Given the description of an element on the screen output the (x, y) to click on. 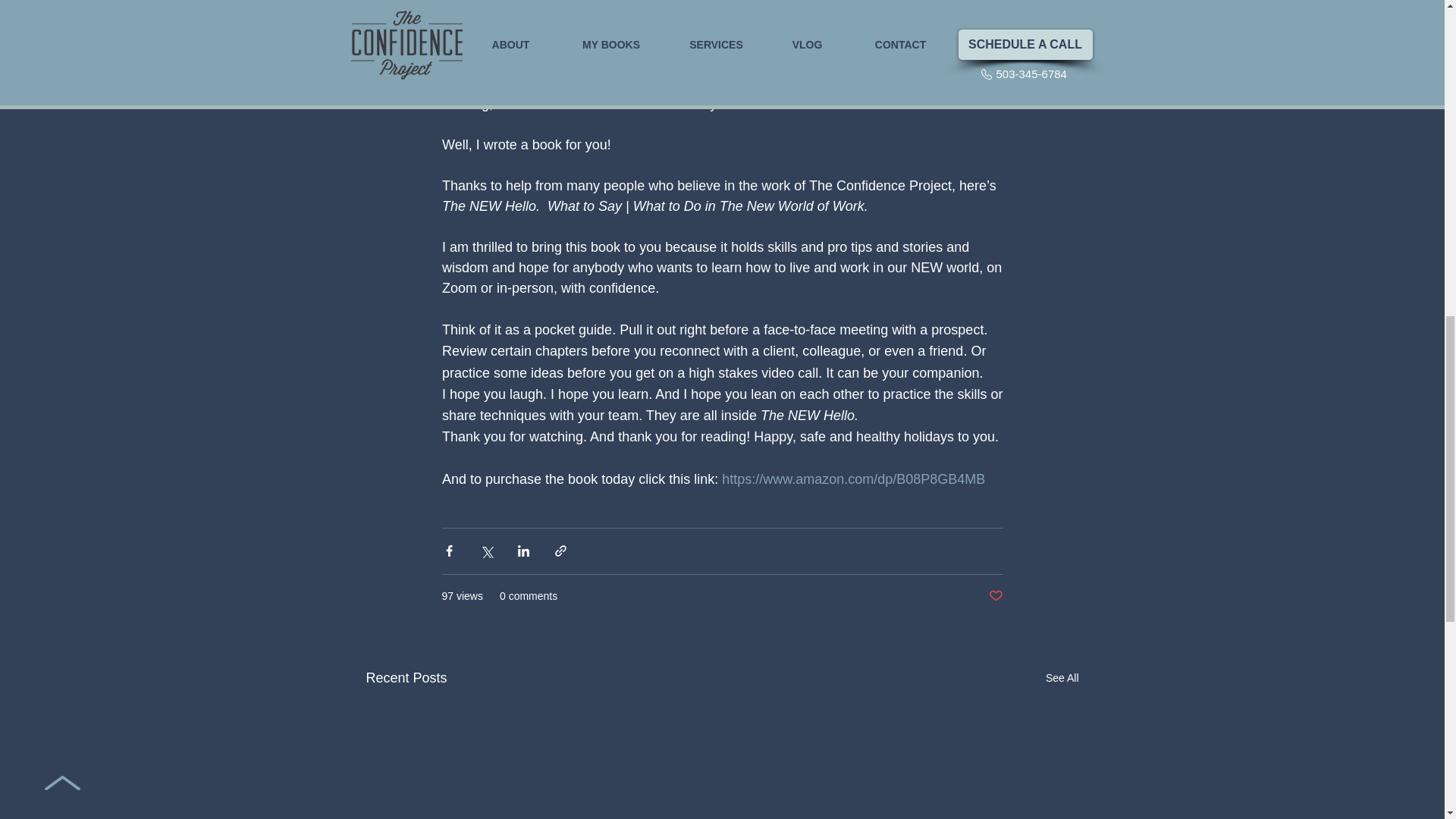
See All (1061, 678)
Post not marked as liked (995, 596)
